Given the description of an element on the screen output the (x, y) to click on. 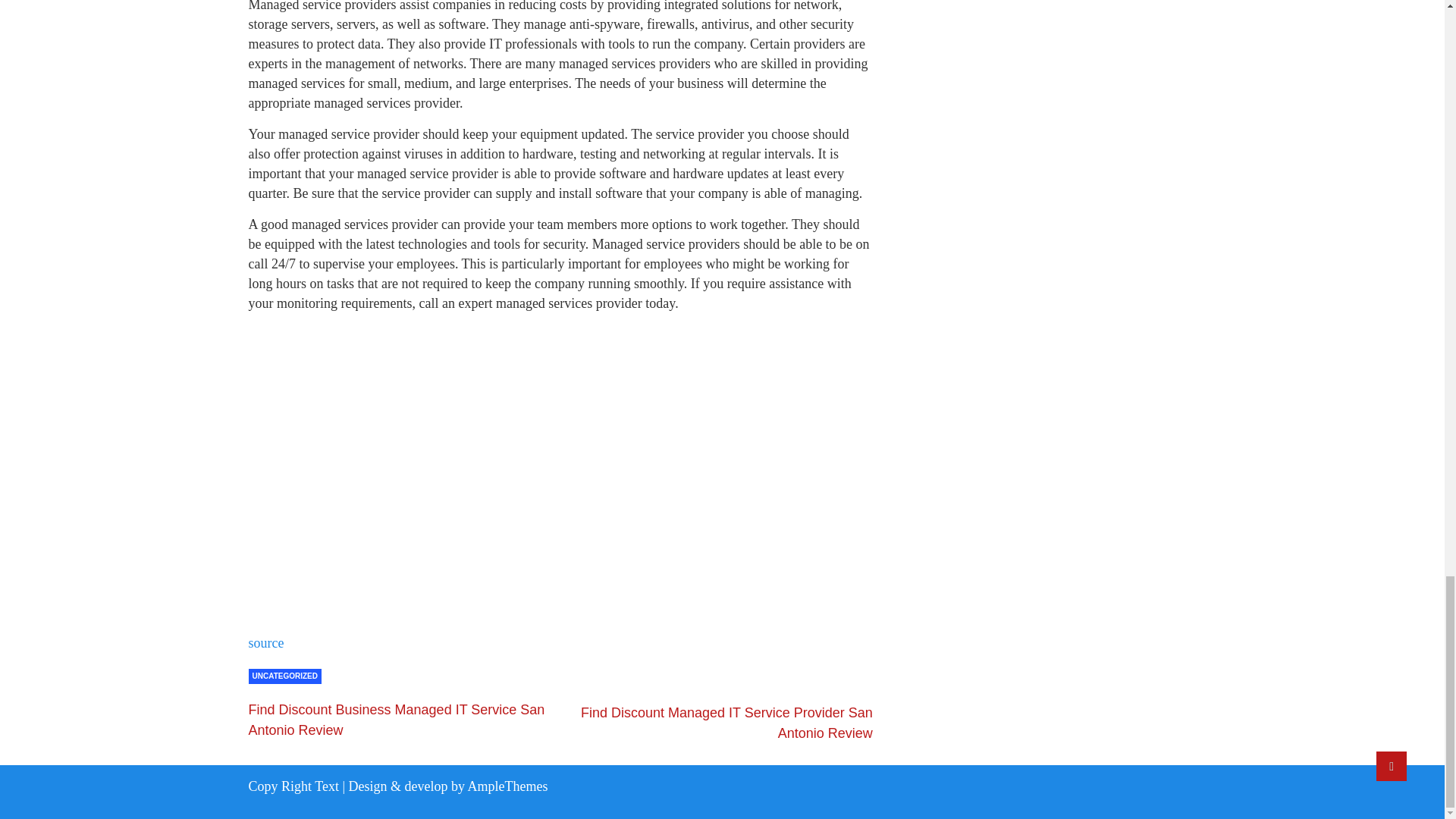
Find Discount Business Managed IT Service San Antonio Review (396, 719)
source (265, 642)
UNCATEGORIZED (284, 676)
